Given the description of an element on the screen output the (x, y) to click on. 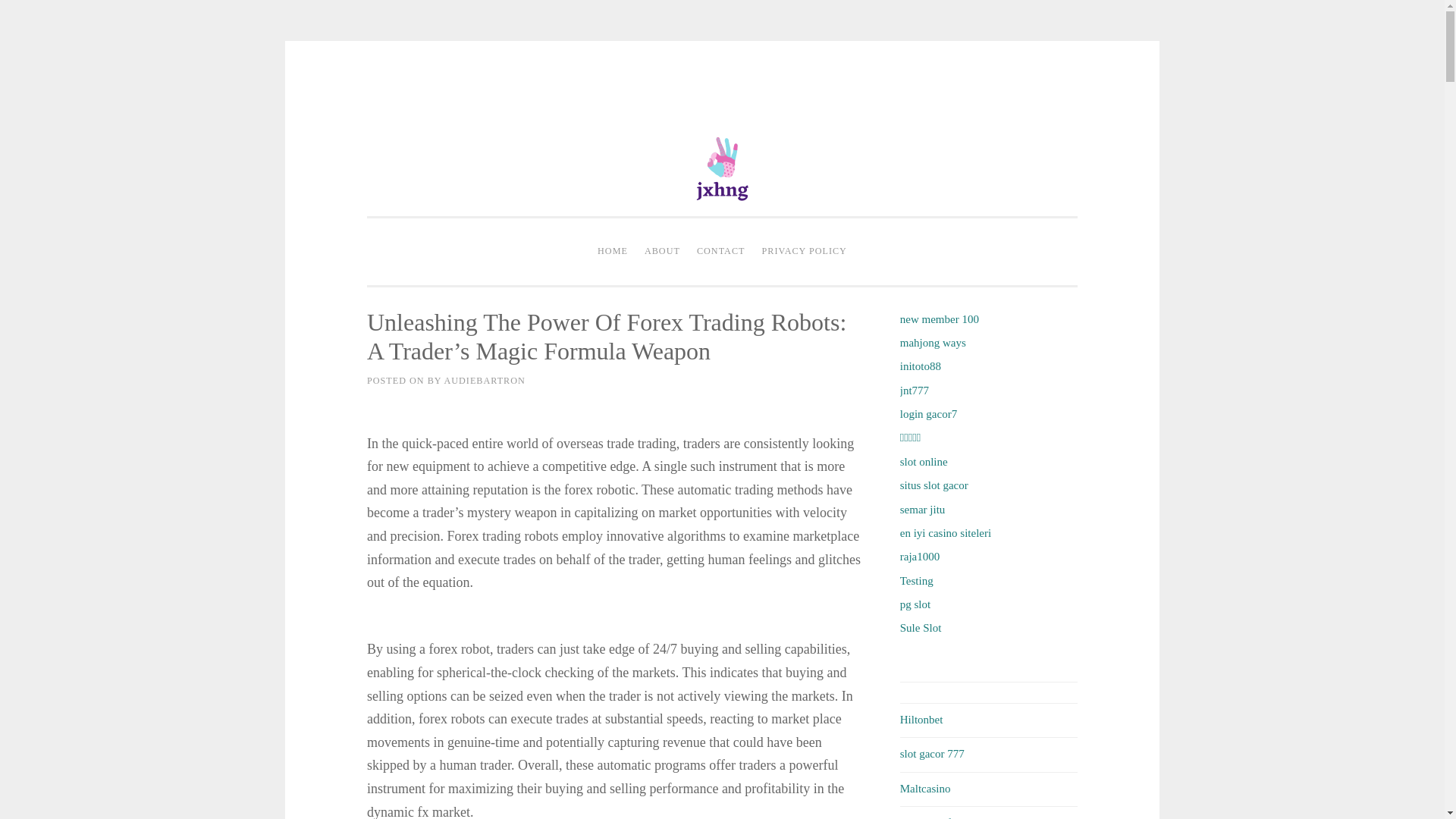
mahjong ways (932, 342)
new member 100 (938, 318)
Testing (916, 580)
slot online (923, 461)
situs slot gacor (933, 485)
AUDIEBARTRON (484, 380)
Sule Slot (920, 627)
jxhng (721, 267)
HOME (612, 251)
en iyi casino siteleri (945, 532)
CONTACT (721, 251)
raja1000 (919, 556)
lotus33 daftar (930, 817)
initoto88 (919, 366)
Skip to content (400, 91)
